Given the description of an element on the screen output the (x, y) to click on. 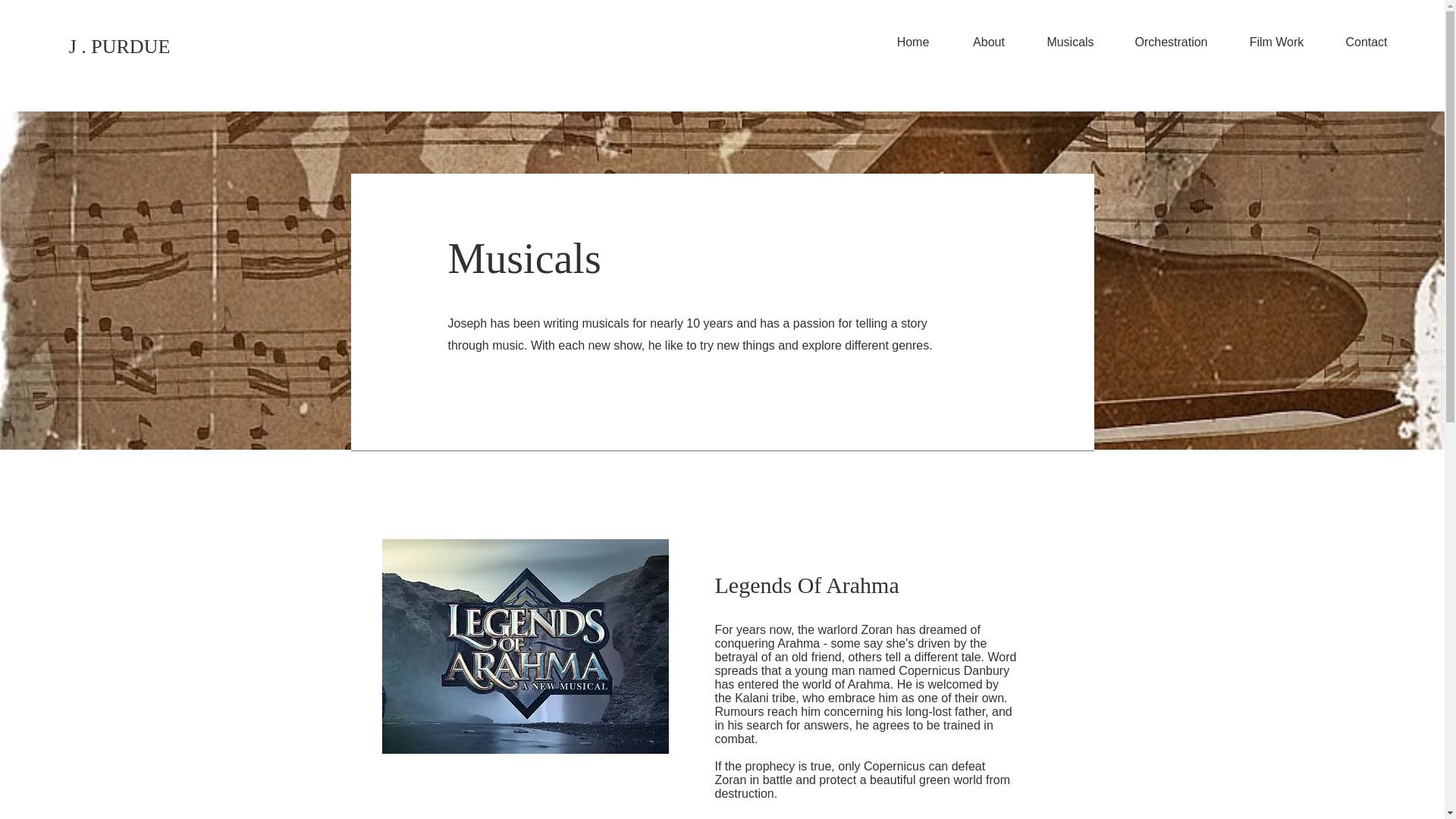
Film Work (1276, 42)
About (988, 42)
Home (912, 42)
Contact (1365, 42)
J . PURDUE (119, 46)
Orchestration (1170, 42)
